Given the description of an element on the screen output the (x, y) to click on. 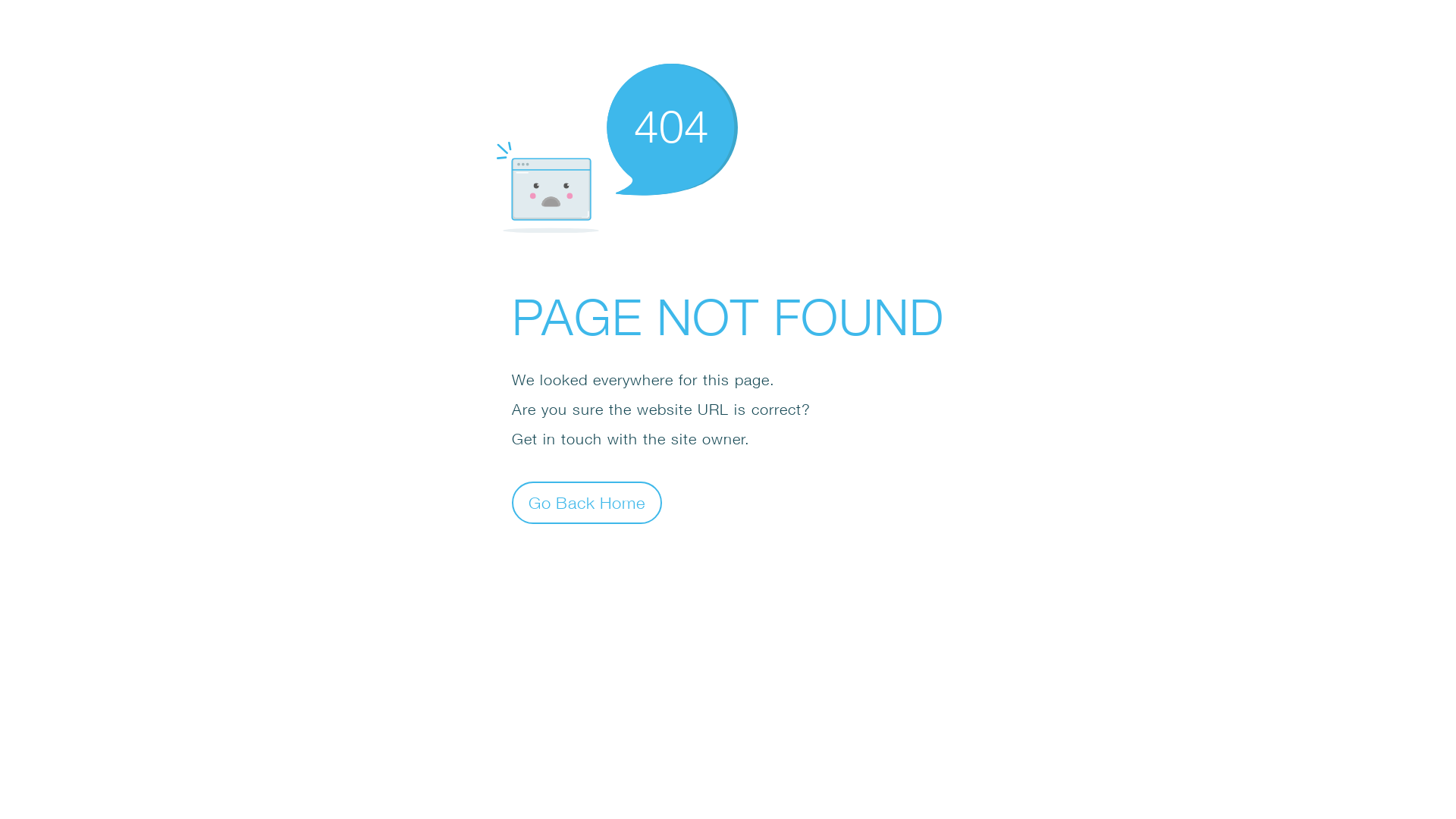
Go Back Home Element type: text (586, 502)
